Given the description of an element on the screen output the (x, y) to click on. 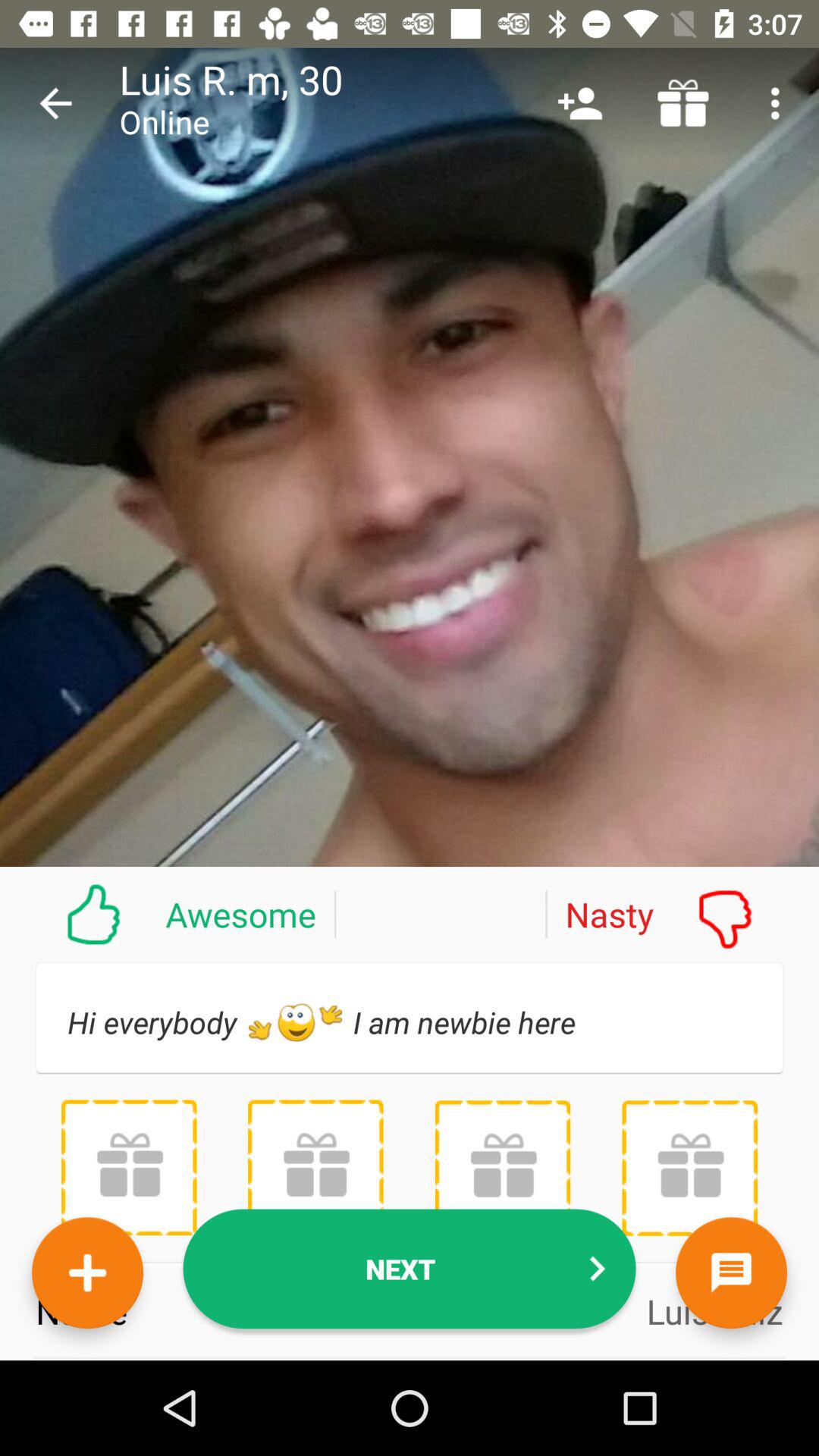
flip until the awesome item (168, 914)
